Given the description of an element on the screen output the (x, y) to click on. 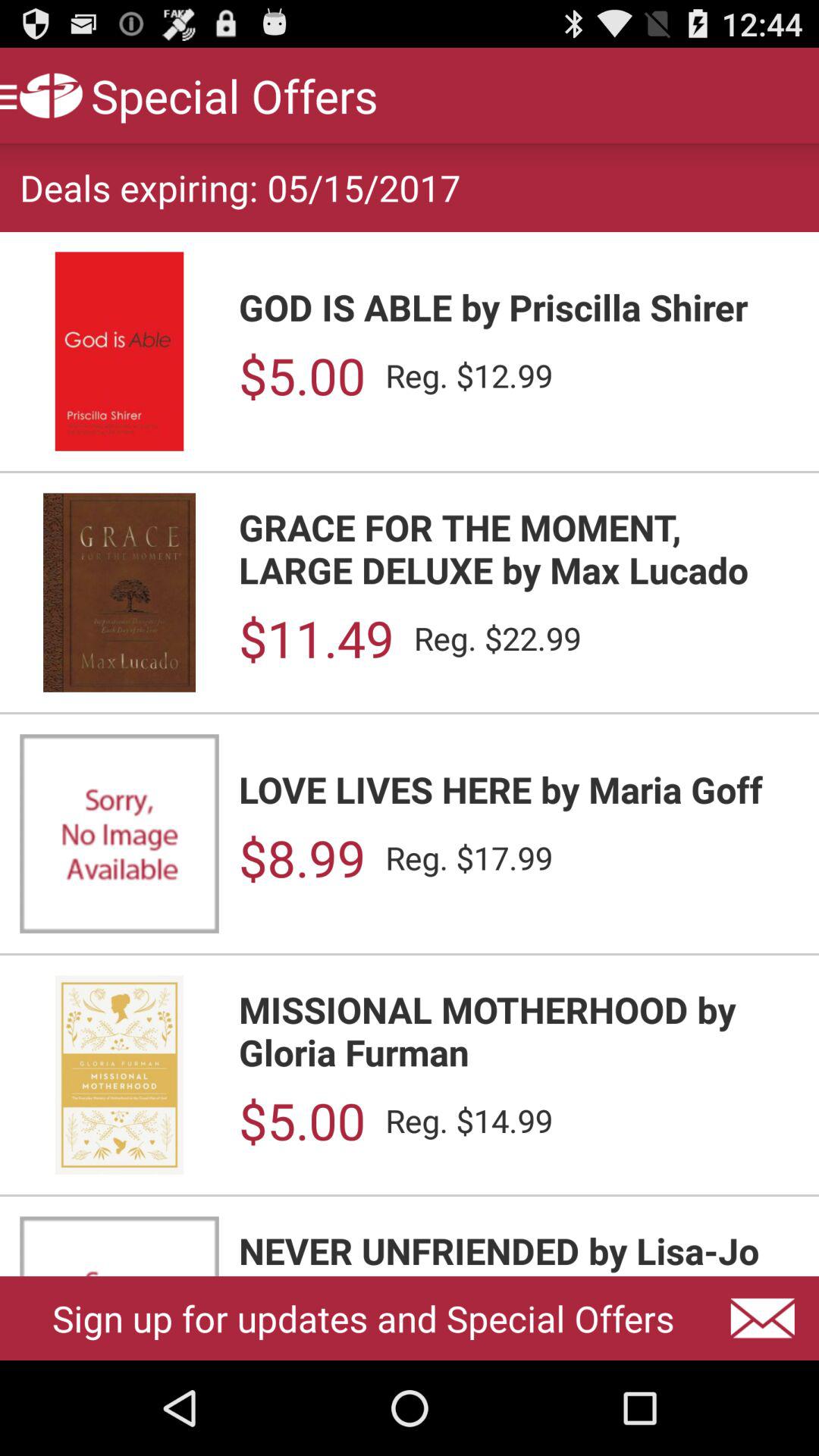
scroll to the never unfriended by app (518, 1251)
